Given the description of an element on the screen output the (x, y) to click on. 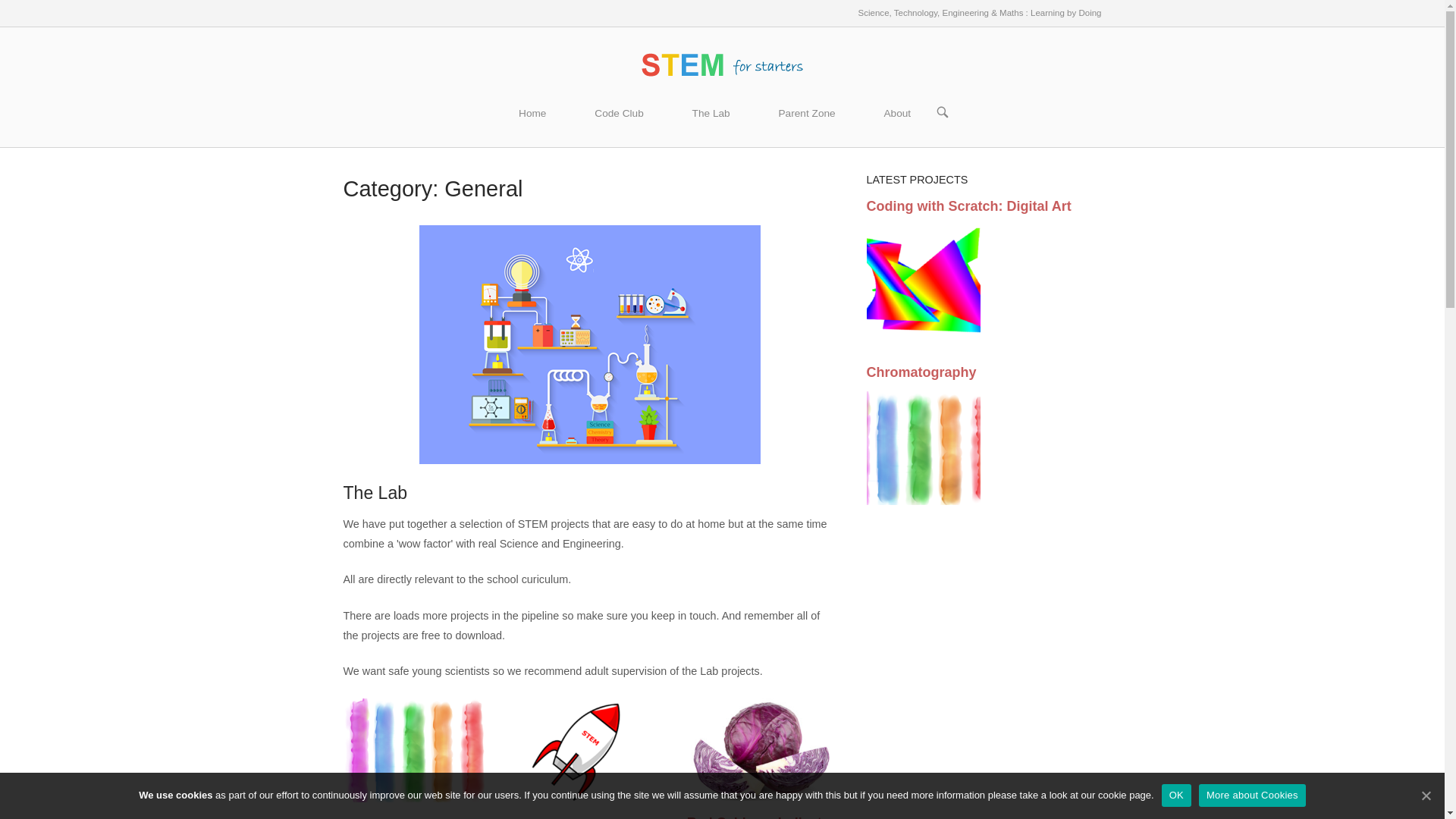
Code Club (619, 113)
Coding with Scratch: Digital Art (968, 206)
Red Cabbage Indicator (761, 816)
Parent Zone (807, 113)
Chromatography (397, 817)
Chromatography (920, 372)
Home (722, 63)
About (896, 113)
The Lab (710, 113)
Straw Rocket (558, 817)
Home (532, 113)
The Lab (374, 492)
